Given the description of an element on the screen output the (x, y) to click on. 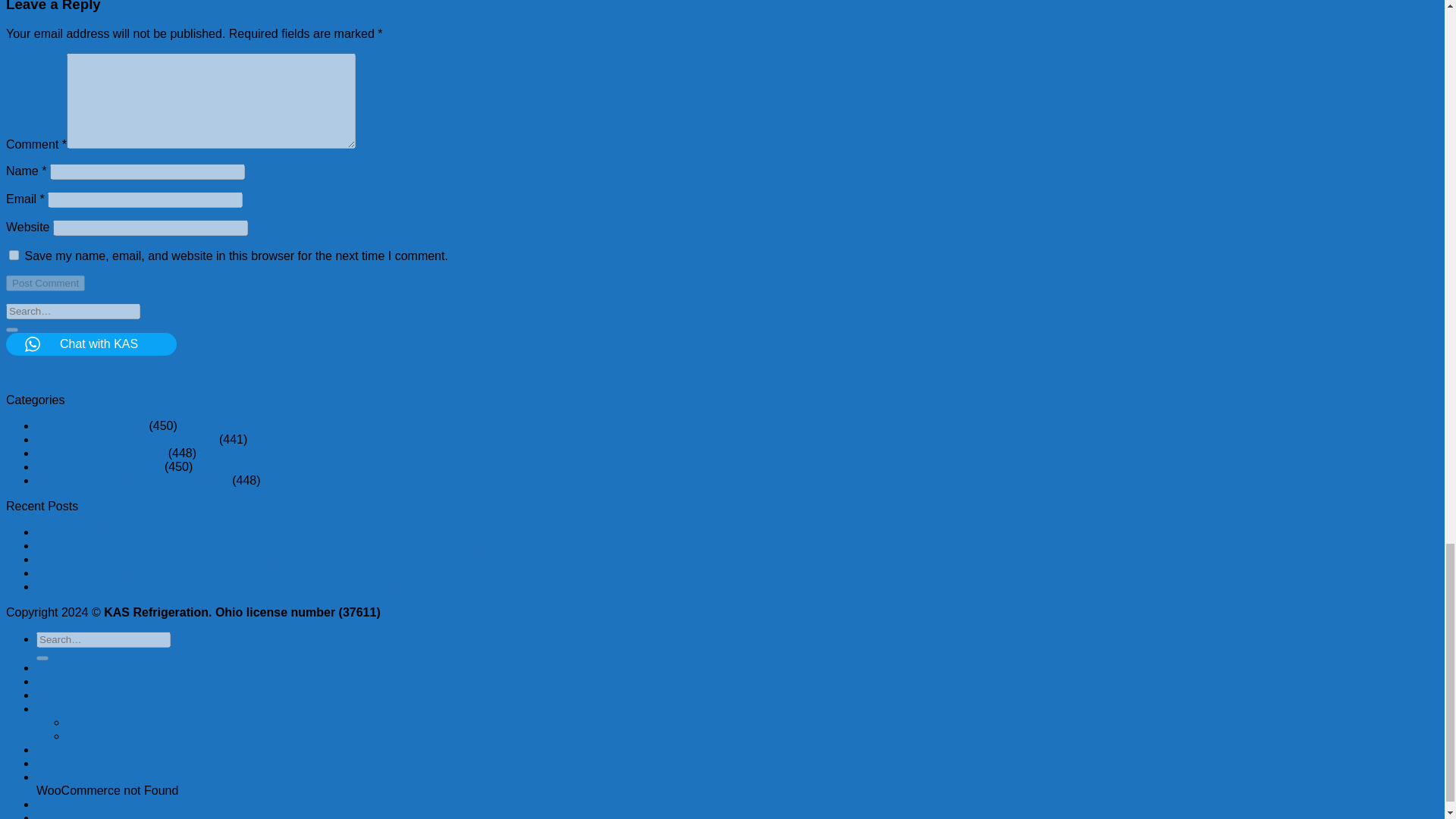
yes (13, 255)
Post Comment (44, 283)
Post Comment (44, 283)
Sign up for Newsletter (66, 803)
